Given the description of an element on the screen output the (x, y) to click on. 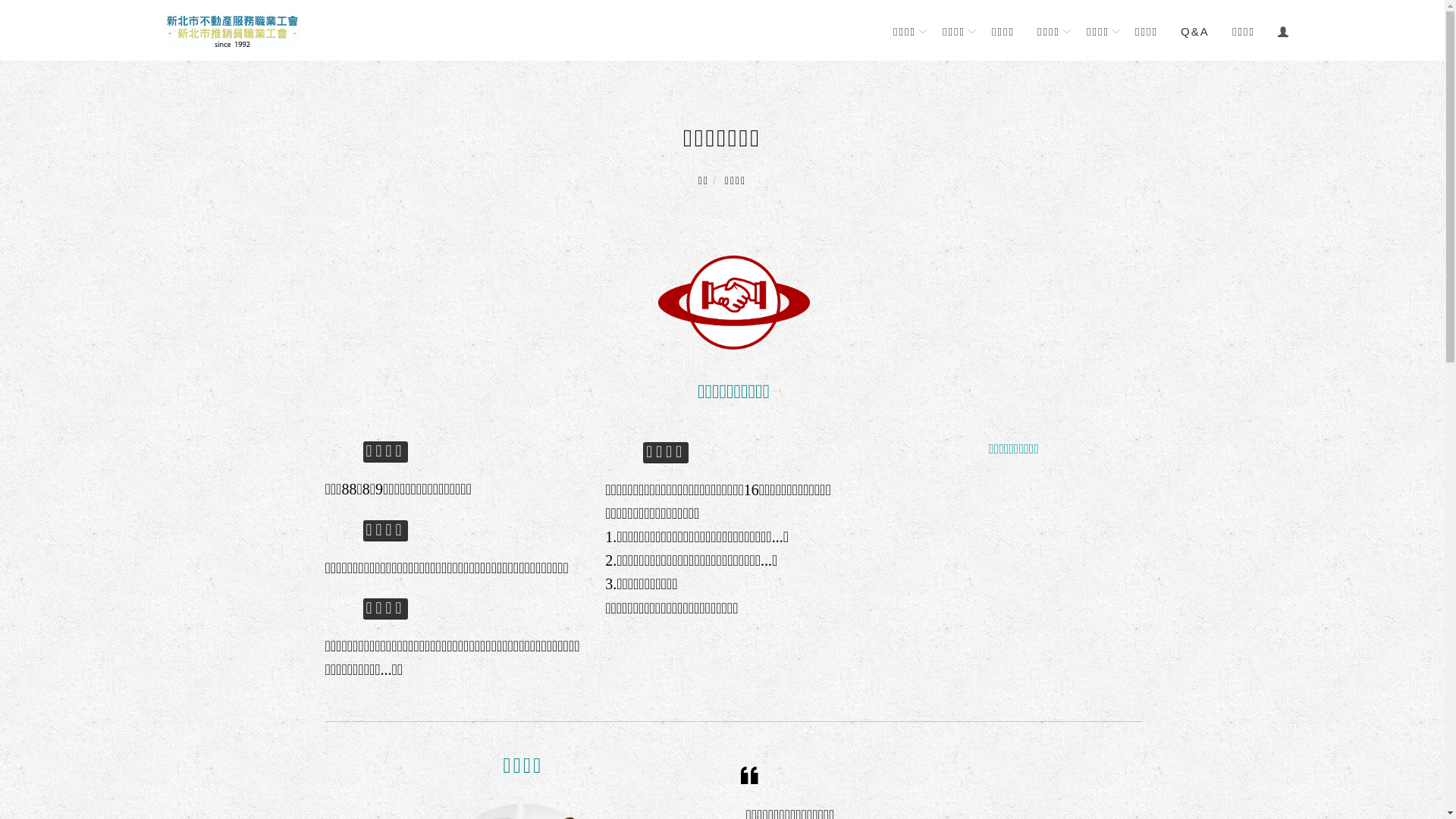
Q&A Element type: text (1194, 30)
